Given the description of an element on the screen output the (x, y) to click on. 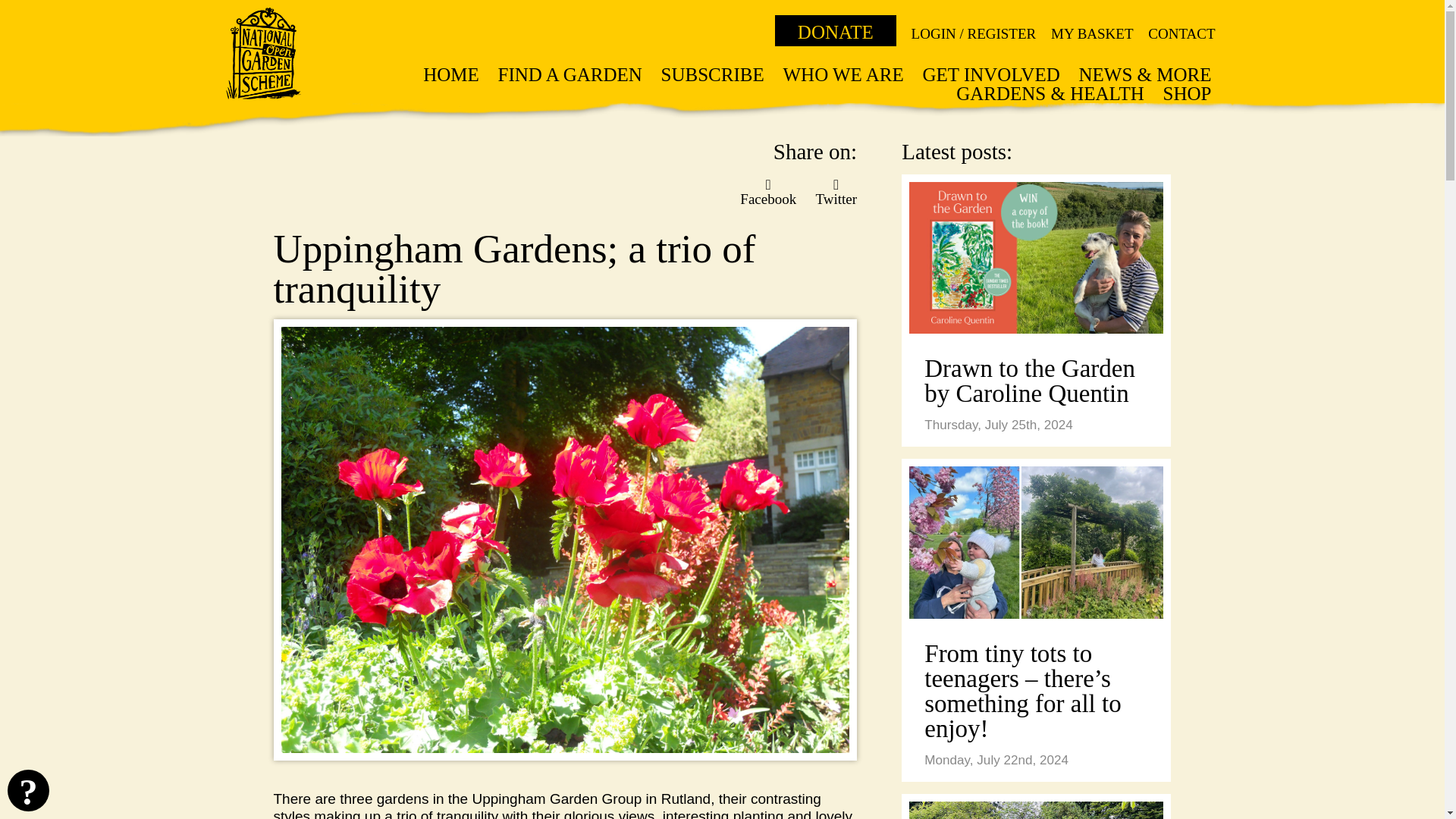
CONTACT (1181, 33)
SUBSCRIBE (712, 74)
HOME (451, 74)
DONATE (835, 30)
GET INVOLVED (990, 74)
WHO WE ARE (842, 74)
MY BASKET (1092, 33)
FIND A GARDEN (569, 74)
